Given the description of an element on the screen output the (x, y) to click on. 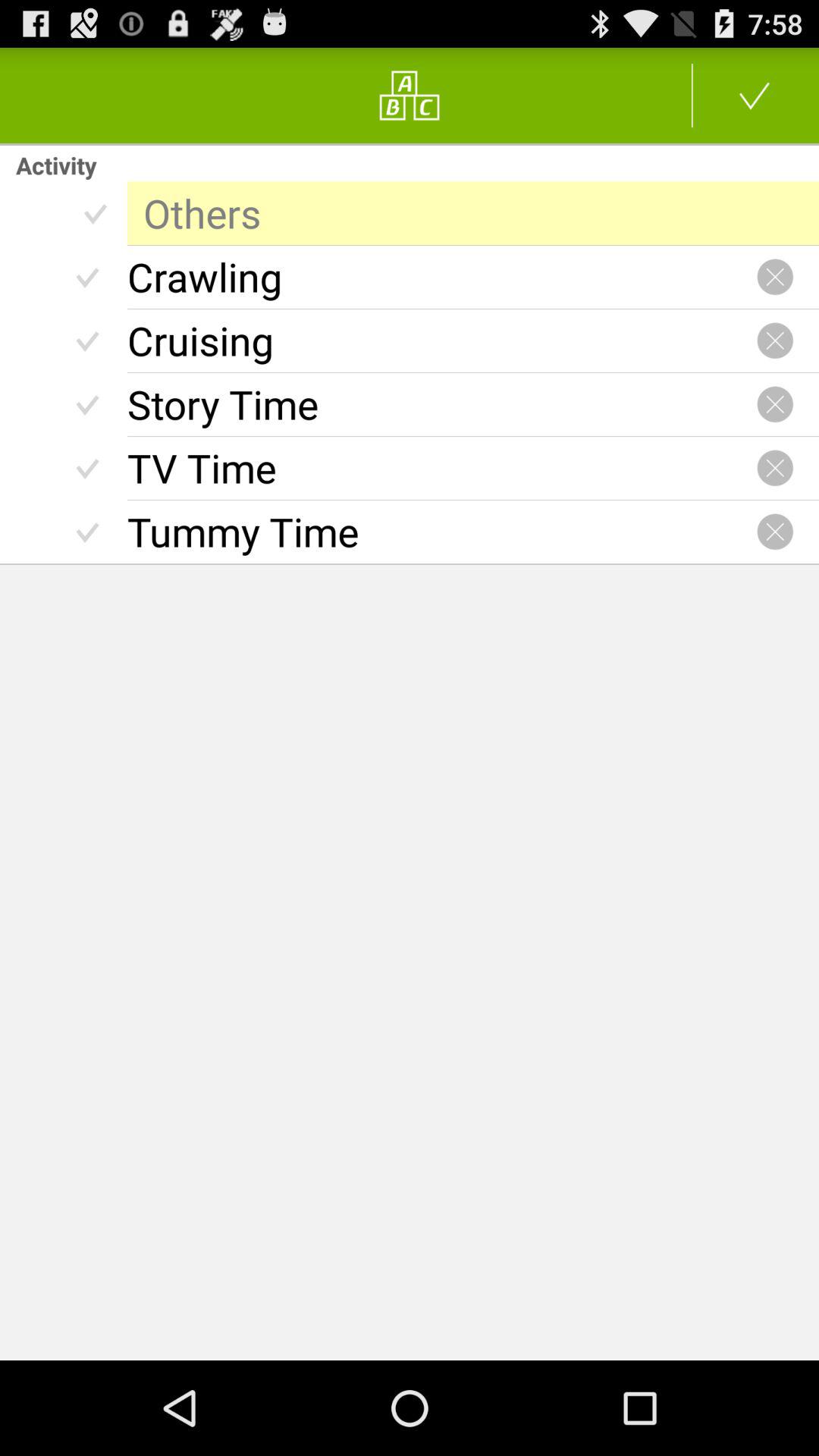
select the other box (473, 213)
